Given the description of an element on the screen output the (x, y) to click on. 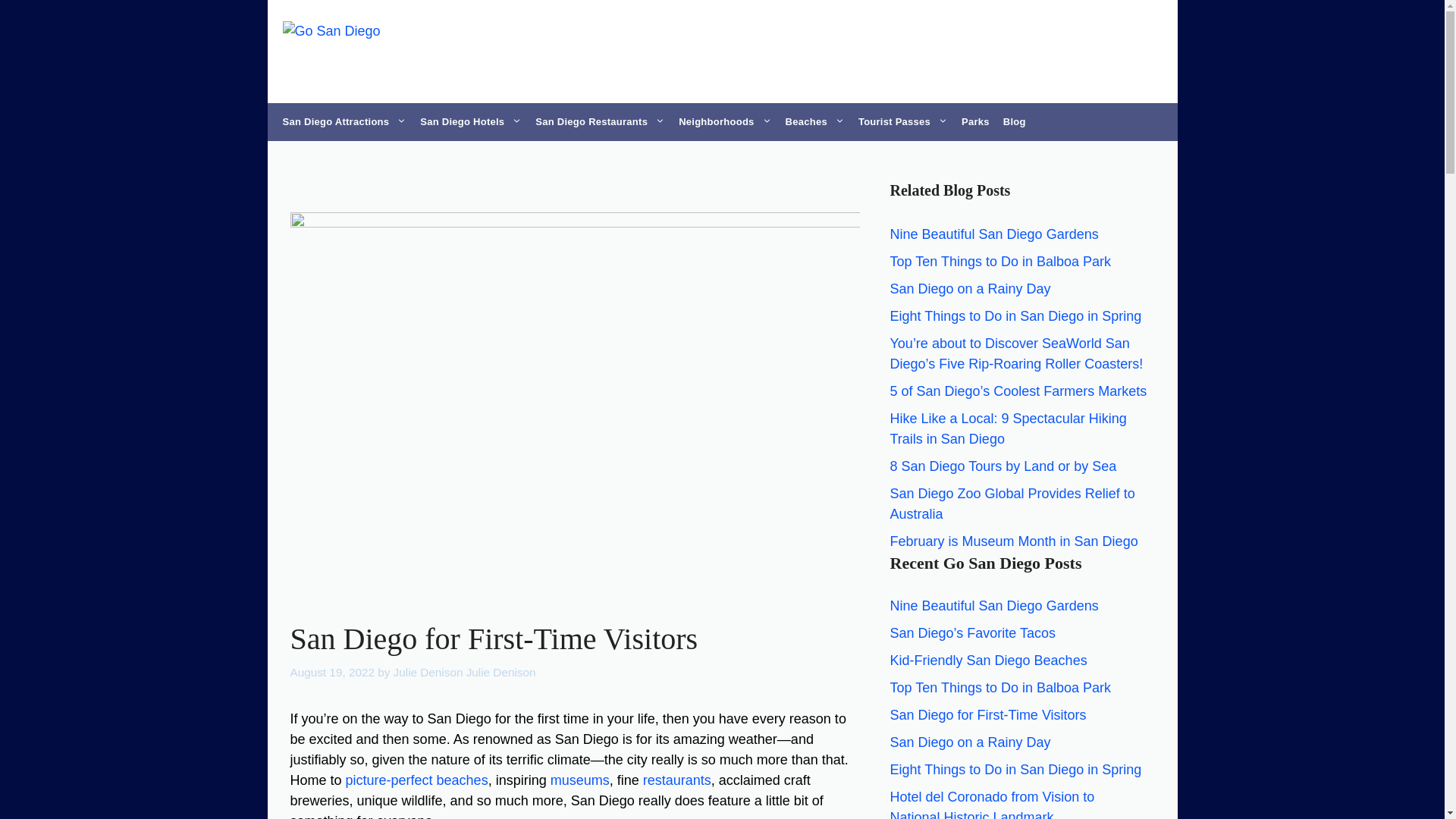
San Diego Hotels (470, 121)
View all posts by Julie Denison Julie Denison (464, 671)
Neighborhoods (724, 121)
San Diego Restaurants (599, 121)
Beaches (814, 121)
Tourist Passes (903, 121)
San Diego Attractions (344, 121)
